Given the description of an element on the screen output the (x, y) to click on. 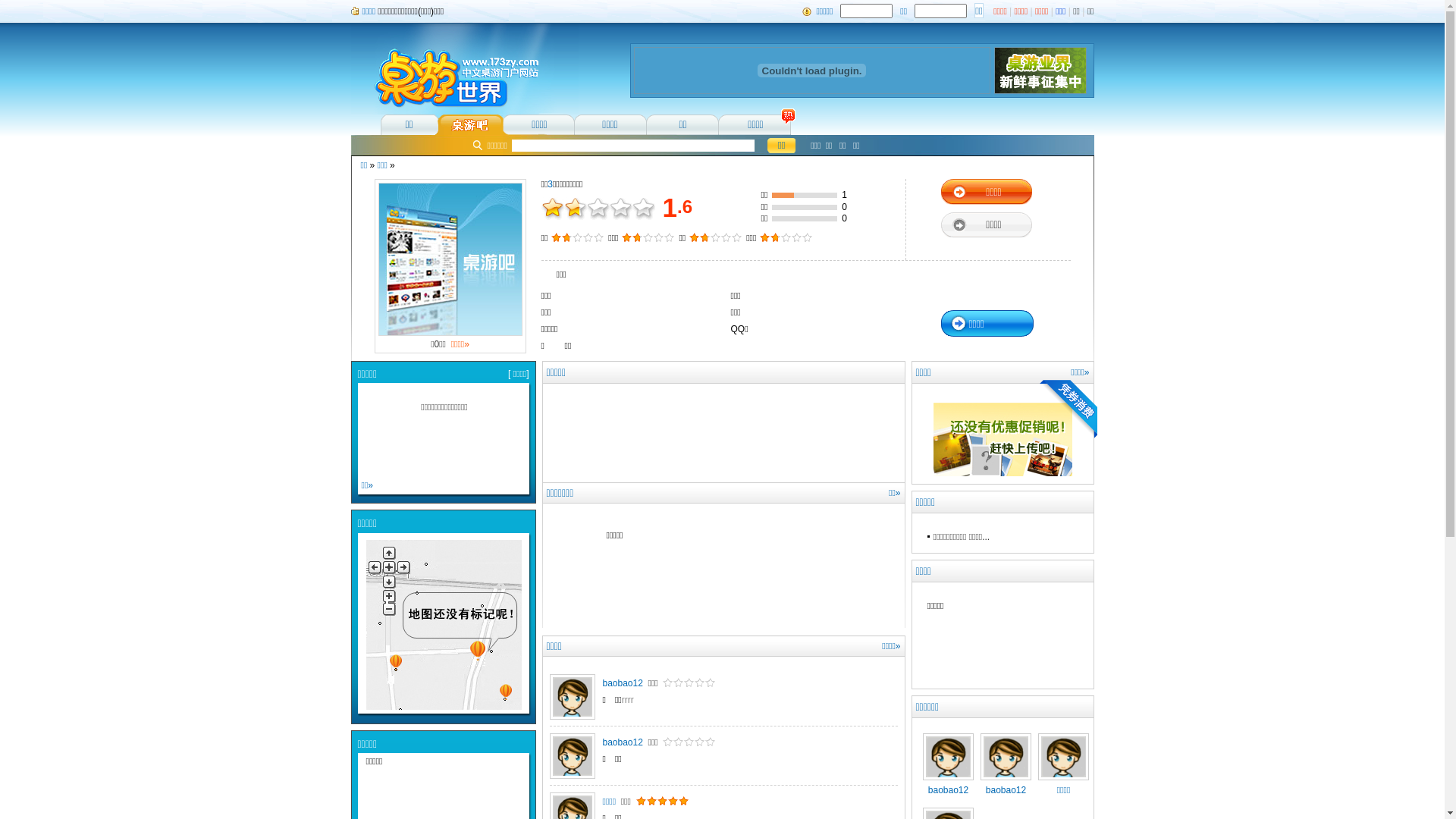
baobao12 Element type: hover (575, 755)
rrrr Element type: text (627, 699)
baobao12 Element type: text (1005, 785)
baobao12 Element type: text (947, 785)
baobao12 Element type: text (622, 742)
baobao12 Element type: hover (575, 696)
baobao12 Element type: text (622, 683)
